Given the description of an element on the screen output the (x, y) to click on. 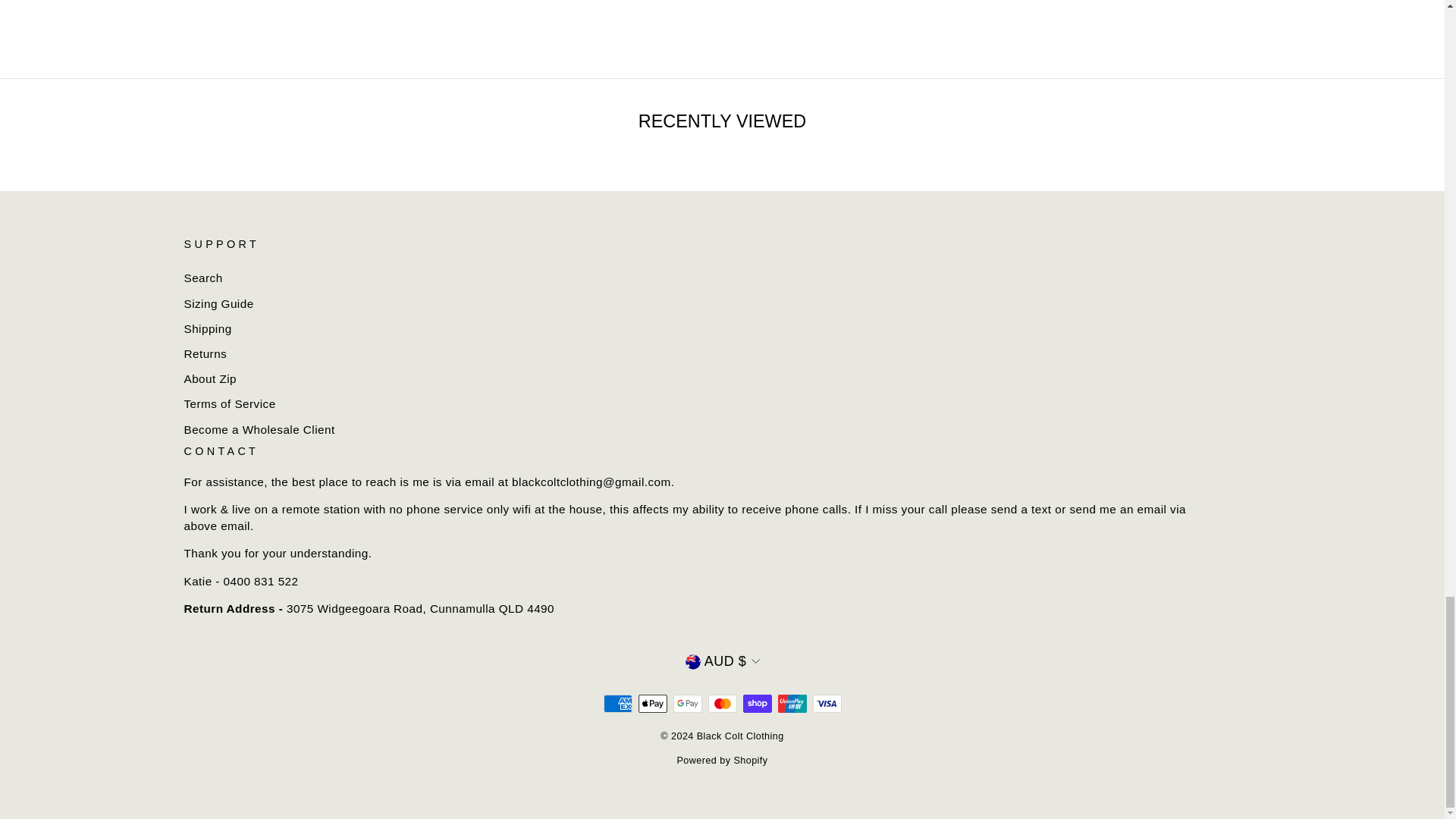
Visa (826, 703)
American Express (617, 703)
Google Pay (686, 703)
Shop Pay (756, 703)
Union Pay (791, 703)
Apple Pay (652, 703)
Mastercard (721, 703)
